Given the description of an element on the screen output the (x, y) to click on. 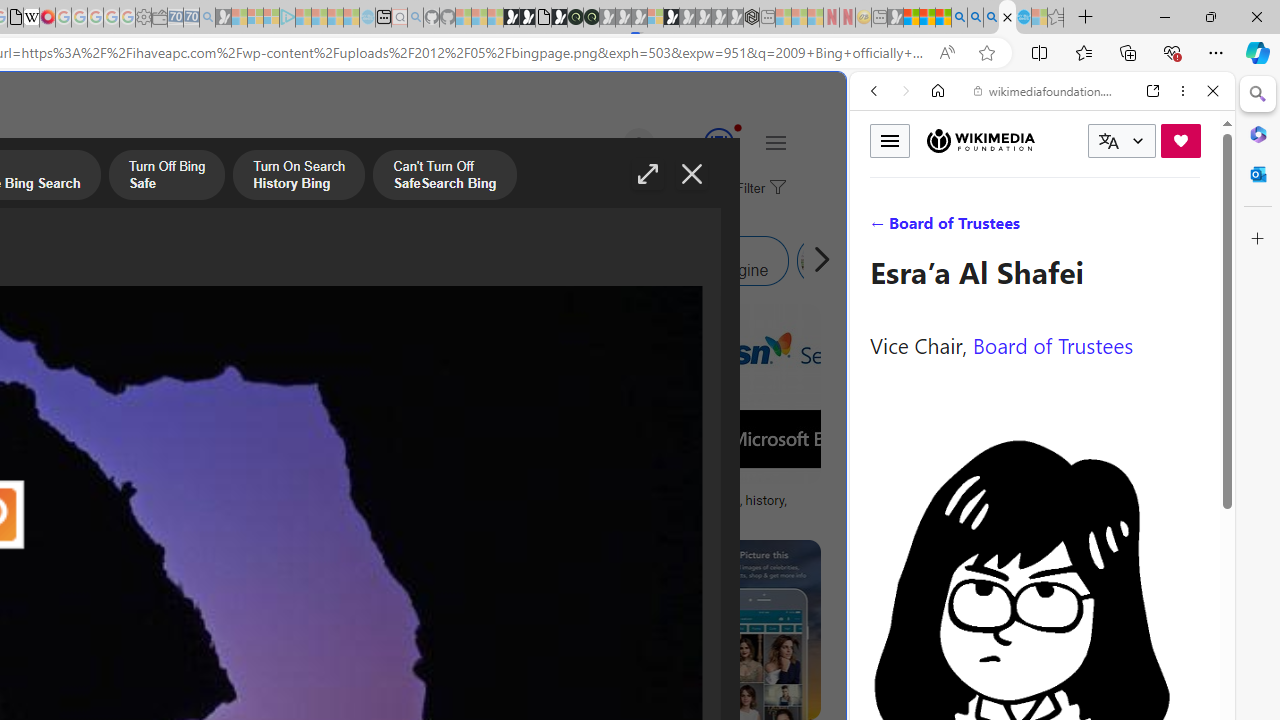
Close split screen (844, 102)
github - Search - Sleeping (415, 17)
Wikimedia Foundation (980, 141)
SEARCH TOOLS (1093, 228)
Owner of Bing Search Engine (680, 260)
This site scope (936, 180)
Search Filter, WEB (882, 228)
MSN Homepage Bing Search Engine (69, 260)
Close Customize pane (1258, 239)
